Given the description of an element on the screen output the (x, y) to click on. 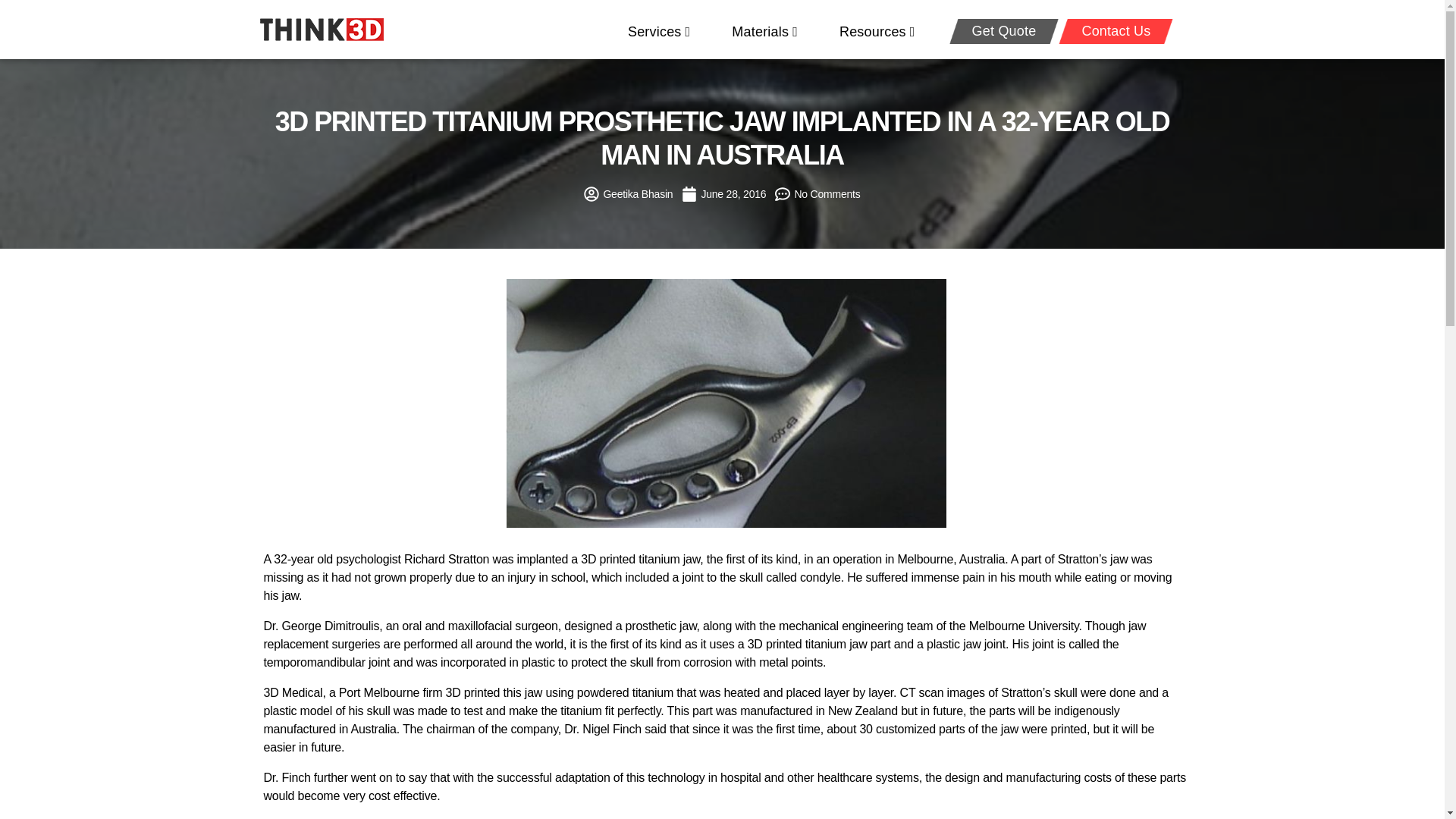
Services (658, 31)
Materials (764, 31)
